Given the description of an element on the screen output the (x, y) to click on. 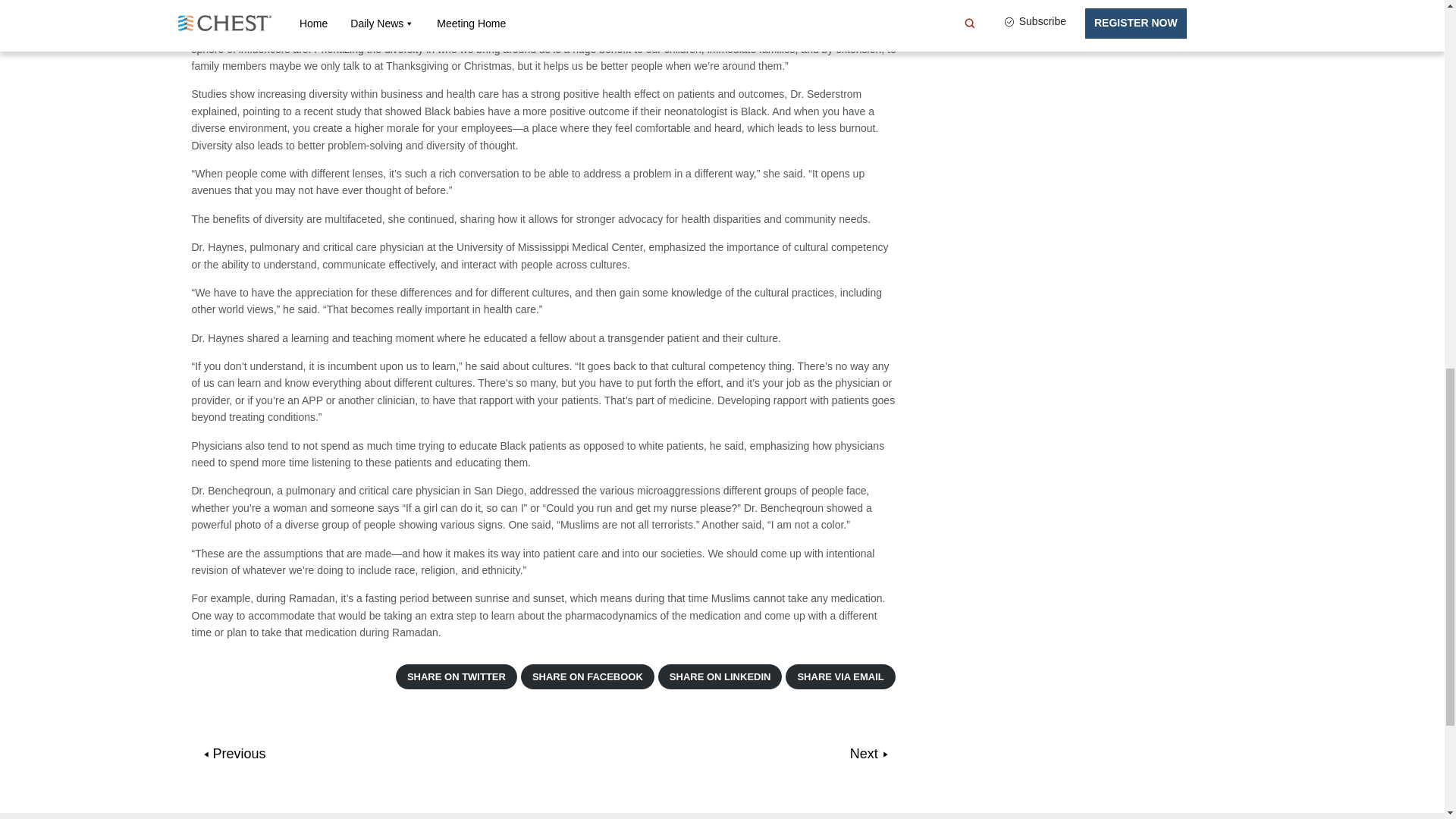
SHARE ON TWITTER (456, 676)
SHARE ON FACEBOOK (587, 676)
Next (869, 753)
Share via Email (840, 676)
Share on Twitter (456, 676)
Previous (234, 753)
Share on LinkedIn (720, 676)
SHARE VIA EMAIL (840, 676)
Share on Facebook (587, 676)
SHARE ON LINKEDIN (720, 676)
